Given the description of an element on the screen output the (x, y) to click on. 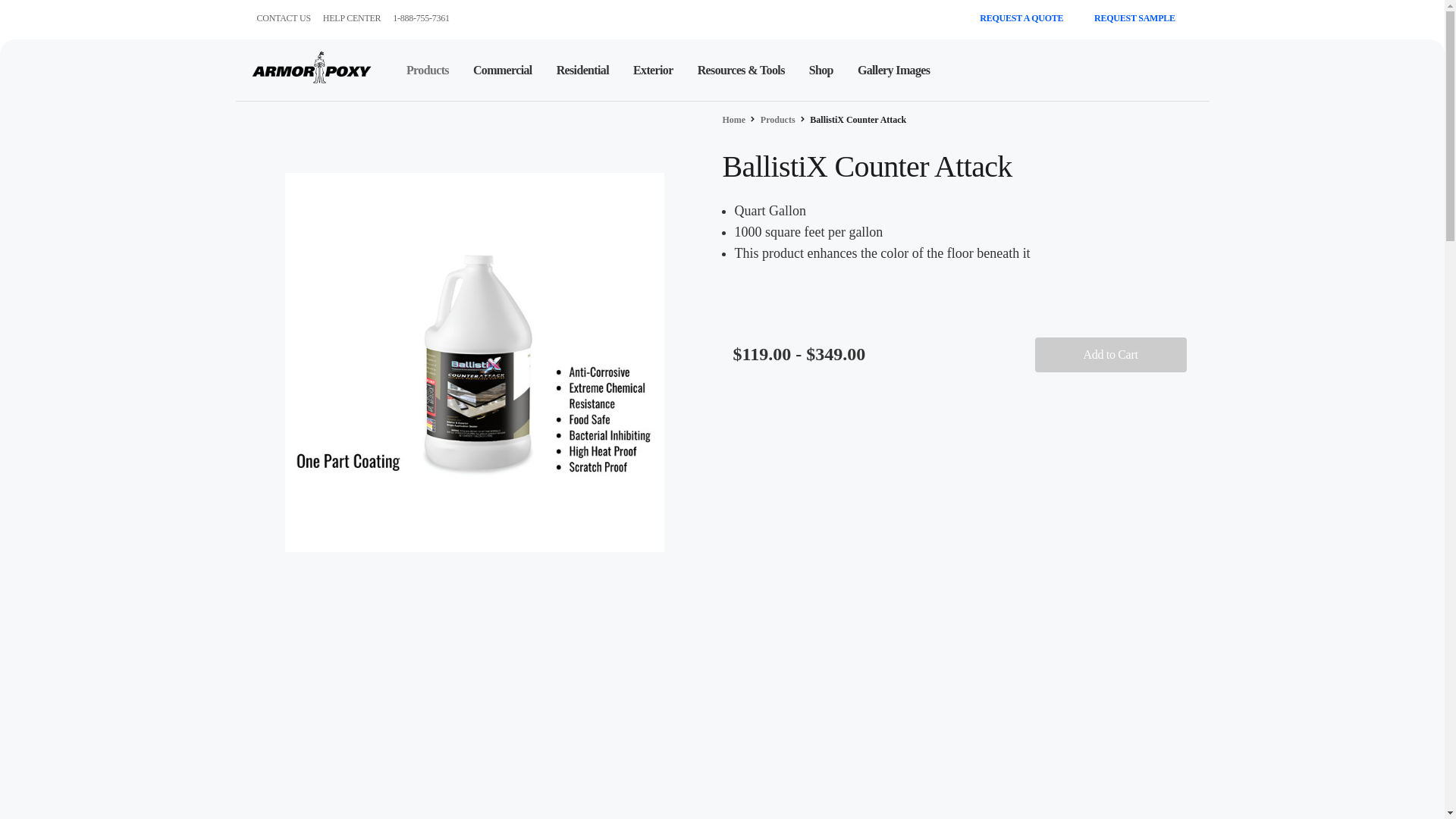
REQUEST A QUOTE (1027, 17)
REQUEST SAMPLE (1141, 17)
1-888-755-7361 (421, 17)
CONTACT US (283, 17)
Products (427, 70)
Armorpoxy Inc (311, 67)
HELP CENTER (351, 17)
Add to Cart (1110, 354)
